Given the description of an element on the screen output the (x, y) to click on. 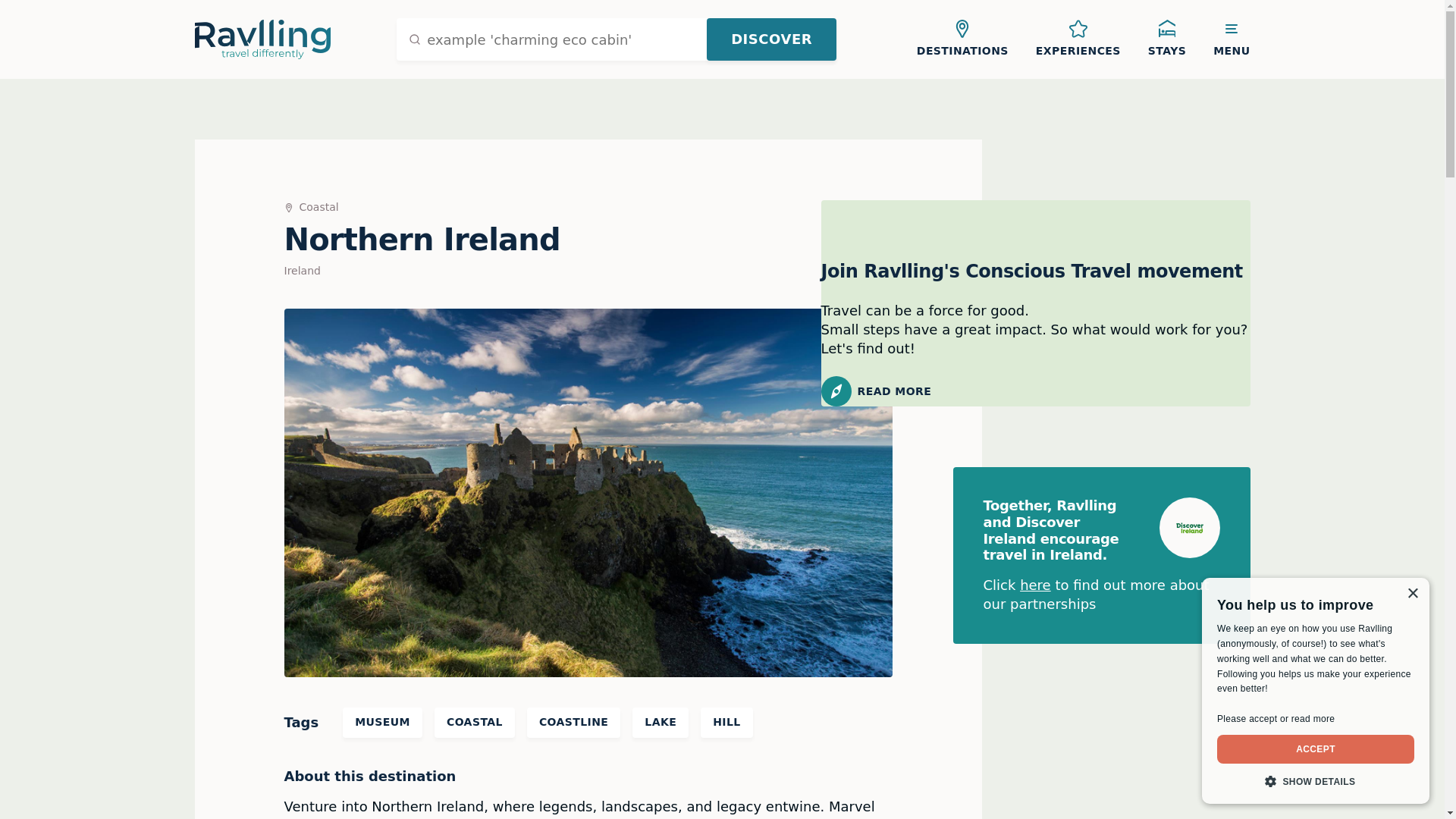
MUSEUM (382, 722)
DESTINATIONS (962, 38)
STAYS (1166, 38)
here (1035, 584)
EXPERIENCES (1078, 38)
DISCOVER (770, 39)
MENU (1231, 38)
LAKE (659, 722)
COASTLINE (573, 722)
READ MORE (1035, 390)
COASTAL (474, 722)
HILL (726, 722)
